Given the description of an element on the screen output the (x, y) to click on. 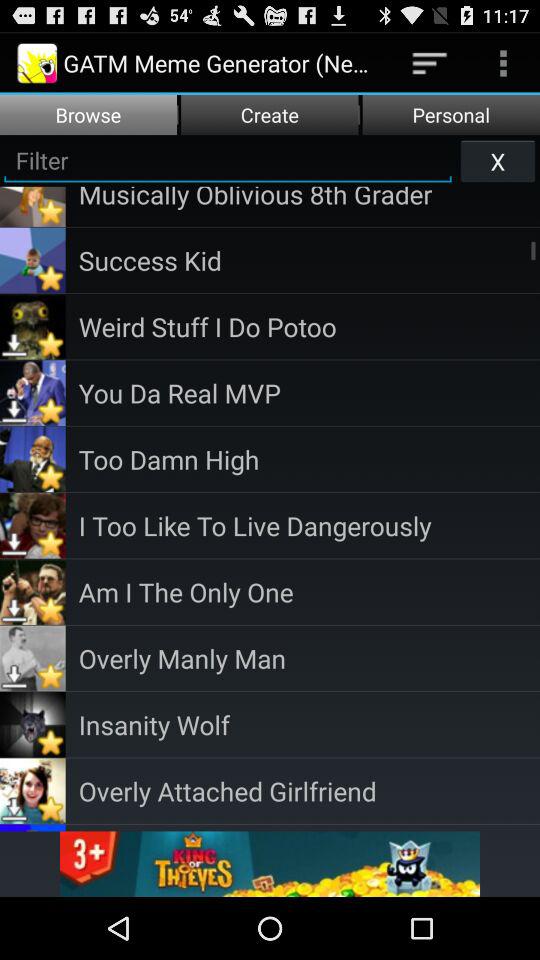
launch the success kid app (309, 259)
